Given the description of an element on the screen output the (x, y) to click on. 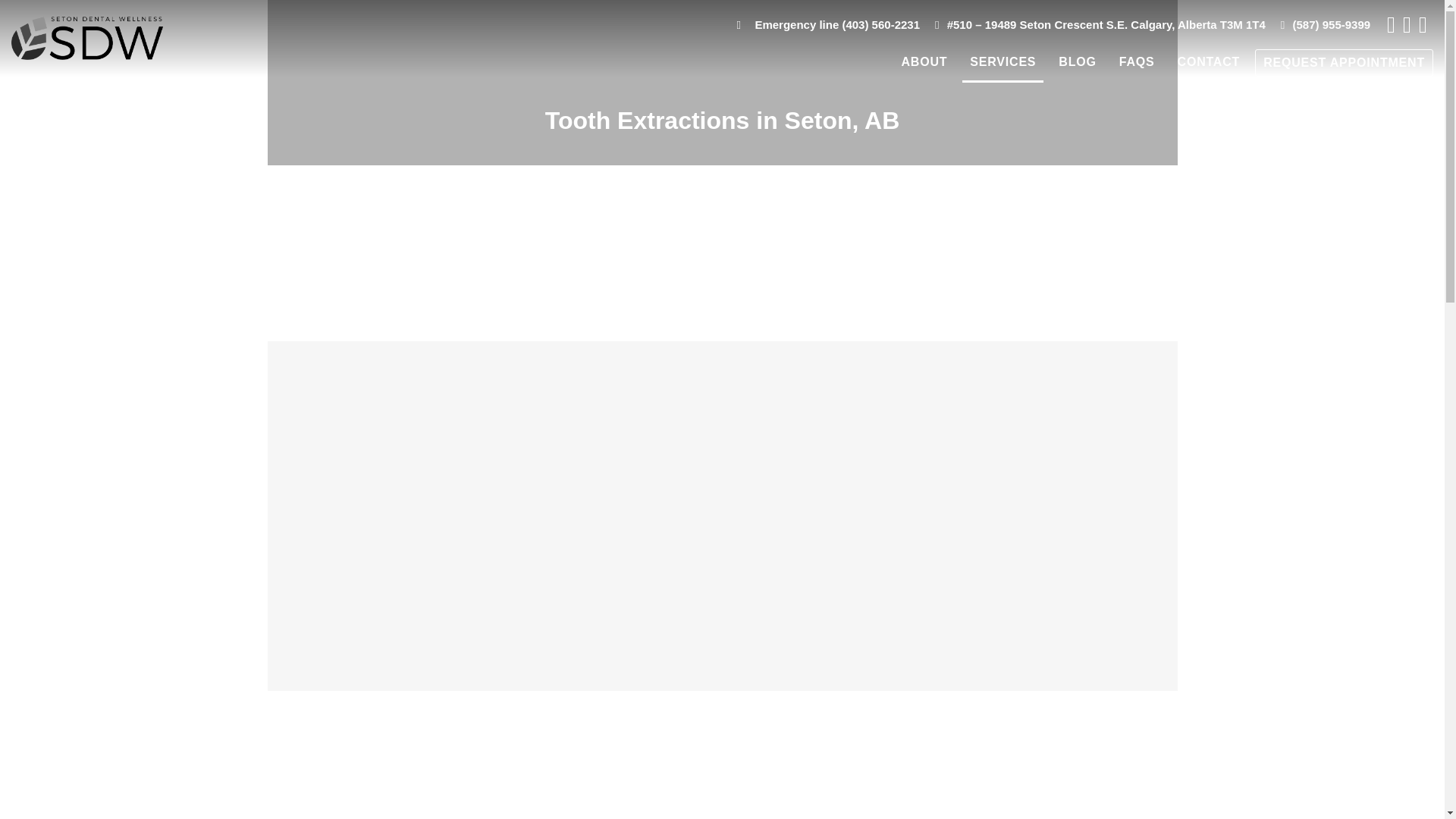
ABOUT (924, 62)
ABOUT (924, 62)
SERVICES (1002, 62)
REQUEST APPOINTMENT (1343, 62)
SERVICES (1002, 62)
FAQS (1136, 62)
CONTACT (1208, 62)
Seton Dental Wellness (87, 38)
BLOG (1077, 62)
